Given the description of an element on the screen output the (x, y) to click on. 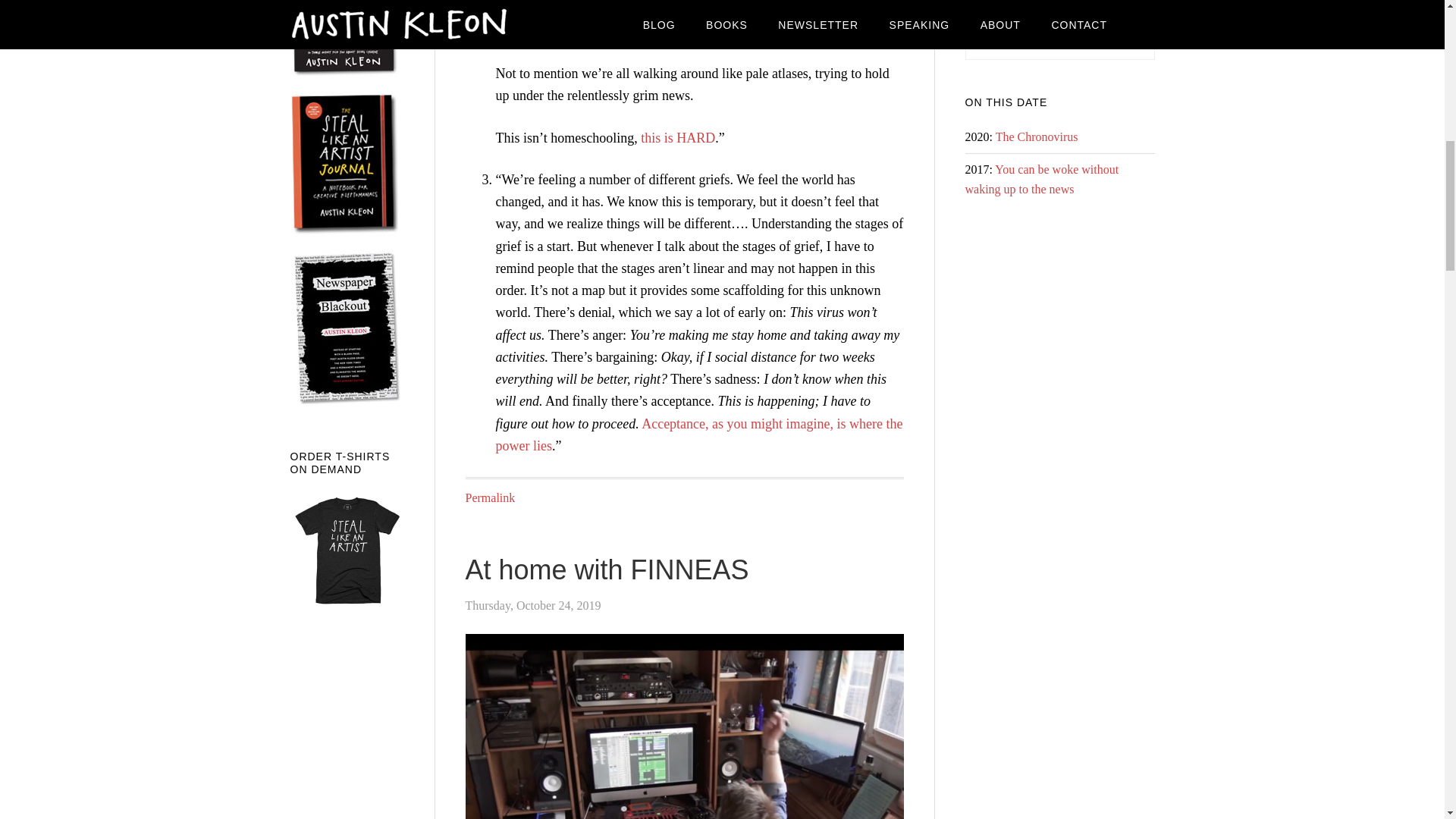
this is HARD (677, 137)
Acceptance, as you might imagine, is where the power lies (699, 433)
At home with FINNEAS (607, 569)
Permalink (490, 497)
